Given the description of an element on the screen output the (x, y) to click on. 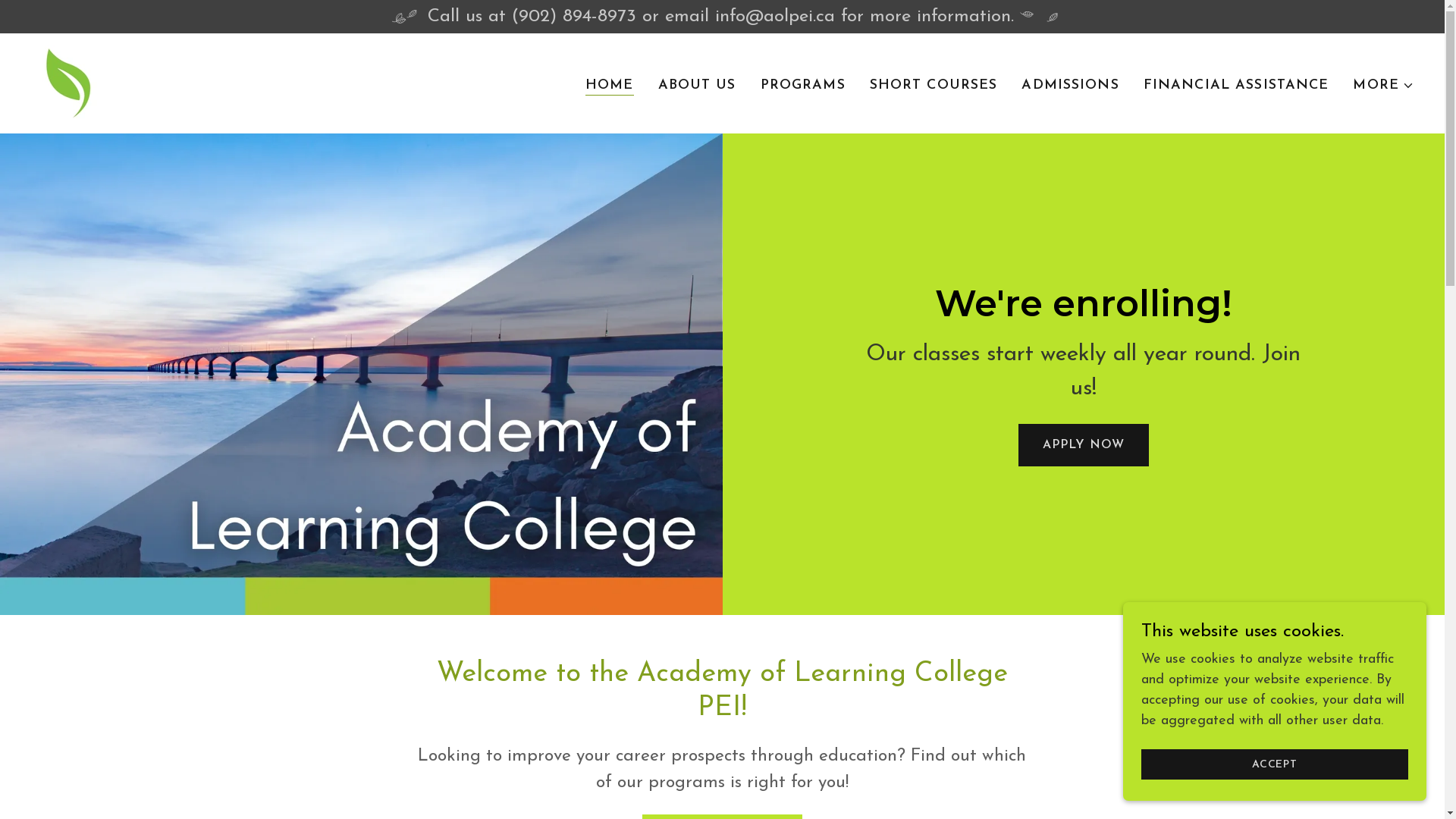
PROGRAMS Element type: text (803, 84)
SHORT COURSES Element type: text (933, 84)
Academy of Learning PEI Element type: hover (68, 82)
ACCEPT Element type: text (1274, 764)
ADMISSIONS Element type: text (1069, 84)
HOME Element type: text (609, 84)
FINANCIAL ASSISTANCE Element type: text (1236, 84)
ABOUT US Element type: text (696, 84)
MORE Element type: text (1383, 84)
APPLY NOW Element type: text (1083, 444)
